Given the description of an element on the screen output the (x, y) to click on. 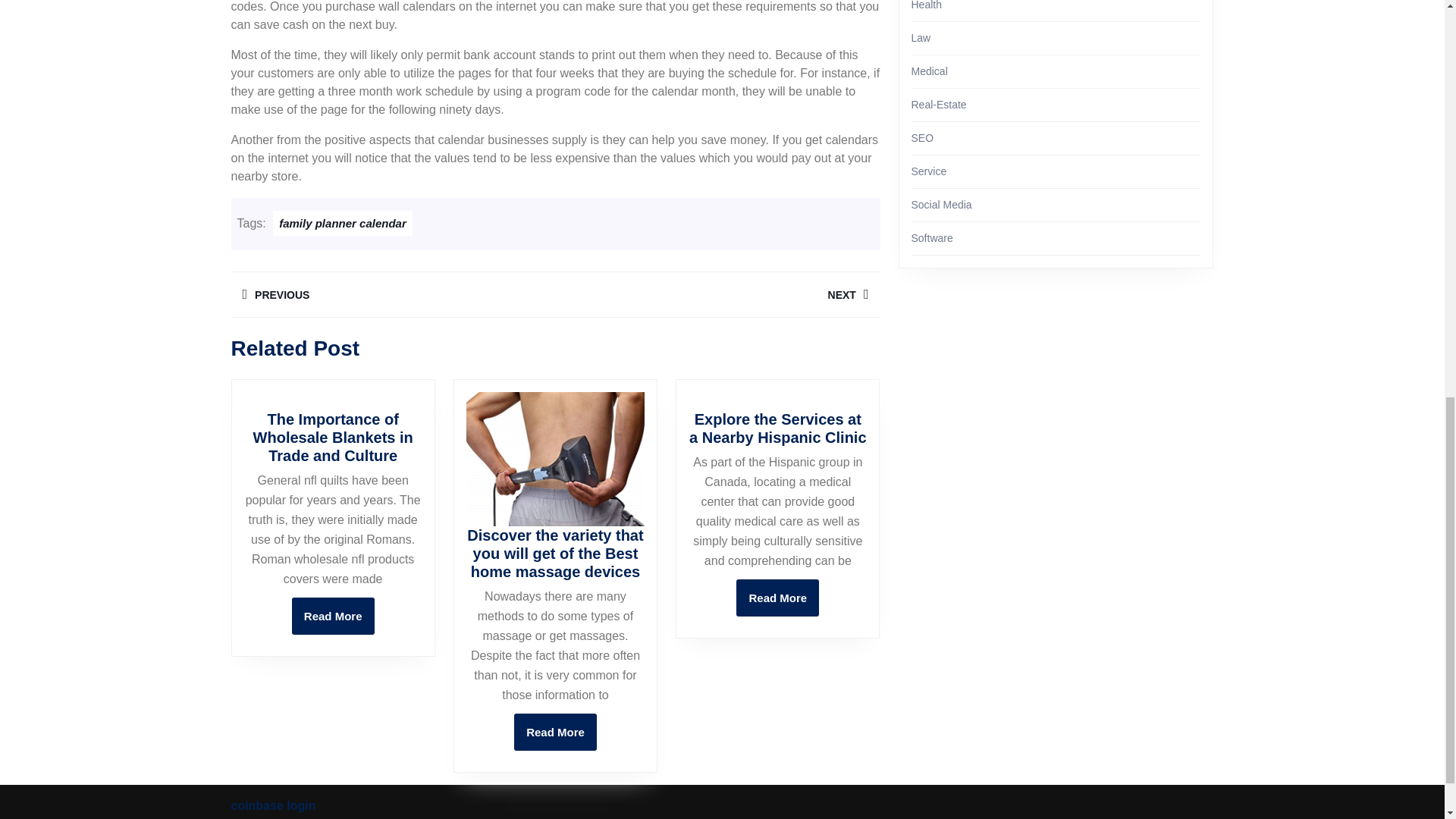
Law (921, 37)
family planner calendar (333, 615)
Health (554, 732)
Medical (342, 222)
